Given the description of an element on the screen output the (x, y) to click on. 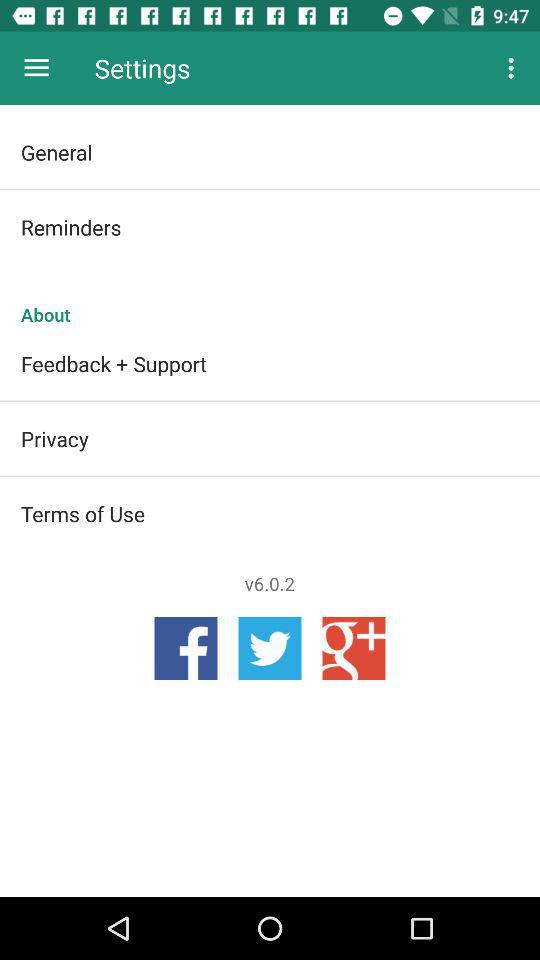
open twitter (269, 648)
